Given the description of an element on the screen output the (x, y) to click on. 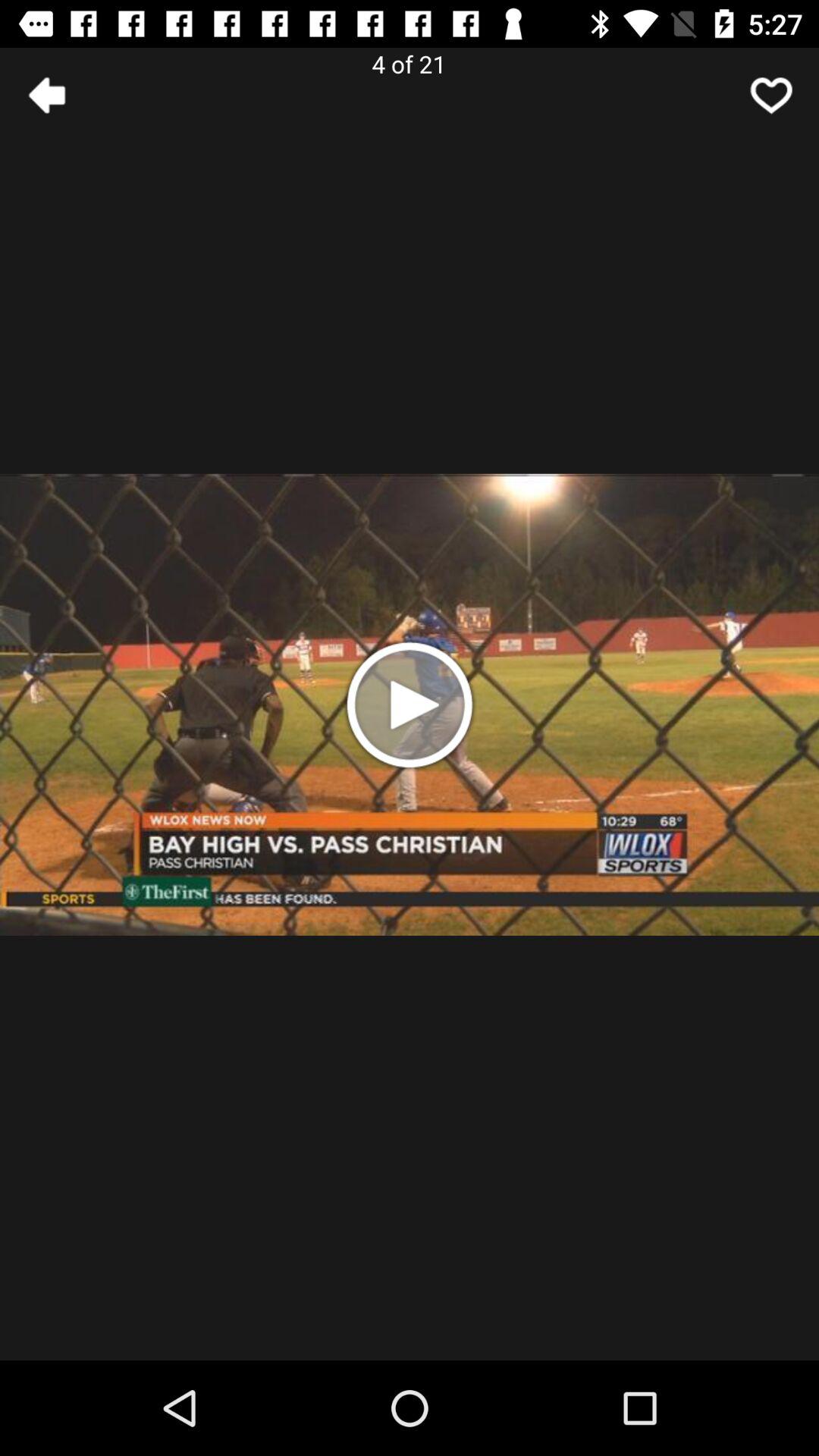
go back (47, 95)
